Given the description of an element on the screen output the (x, y) to click on. 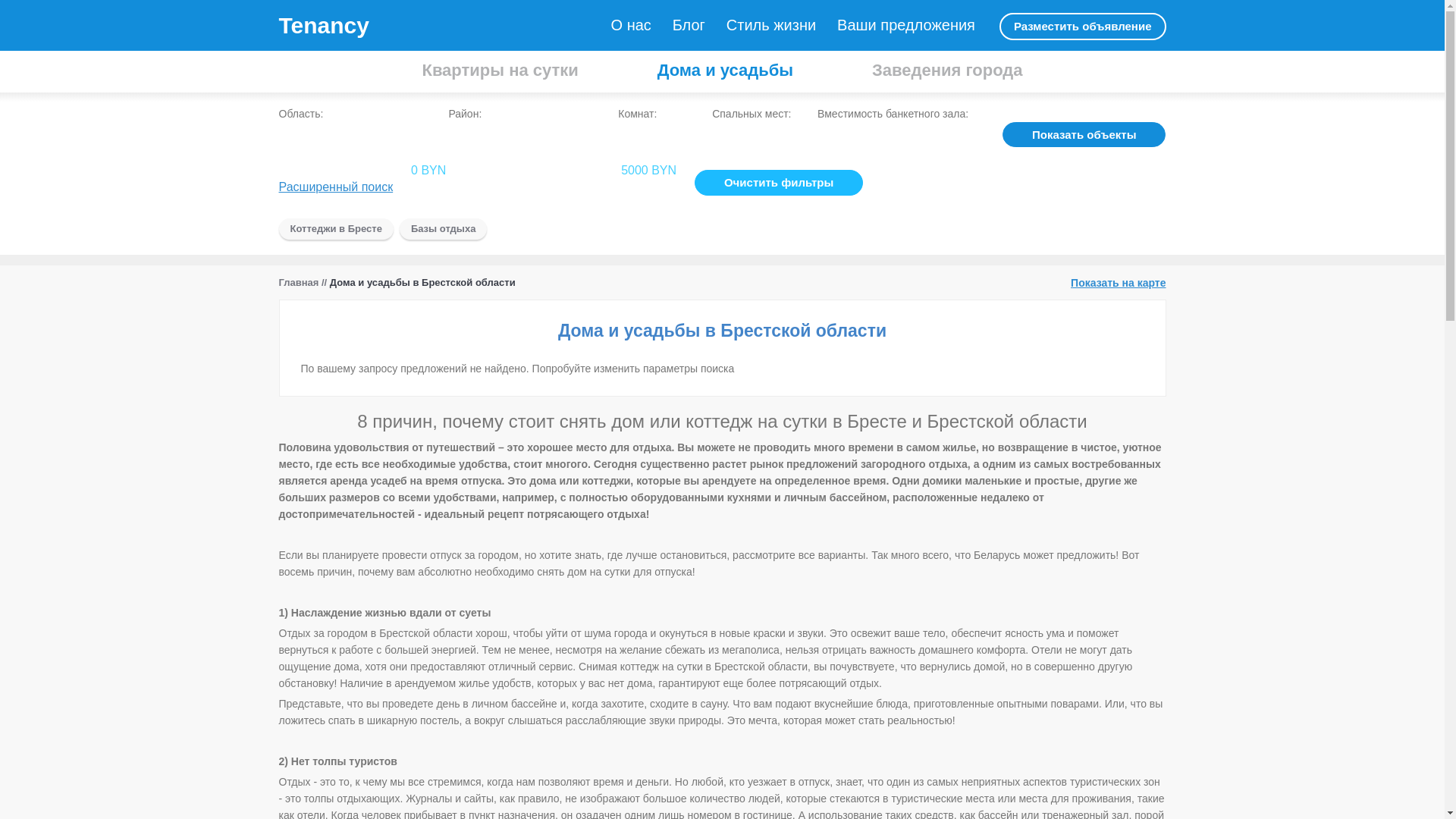
Tenancy Element type: text (324, 24)
